Given the description of an element on the screen output the (x, y) to click on. 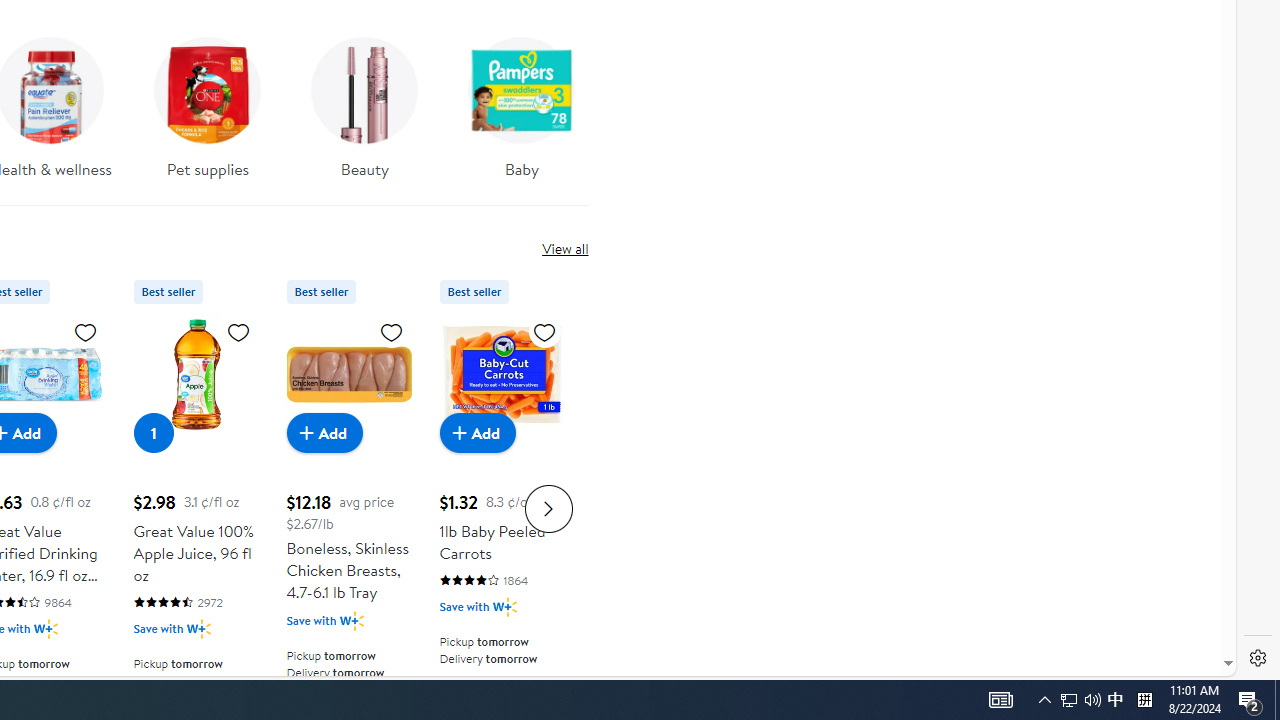
View all (564, 248)
Boneless, Skinless Chicken Breasts, 4.7-6.1 lb Tray (348, 374)
Baby (521, 101)
1 in cart, Great Value 100% Apple Juice, 96 fl oz (153, 431)
Walmart Plus (504, 606)
Pet supplies (207, 114)
Beauty (365, 101)
Pet supplies (207, 101)
Baby (521, 114)
Next slide for Product Carousel list (548, 507)
Beauty (364, 114)
